Given the description of an element on the screen output the (x, y) to click on. 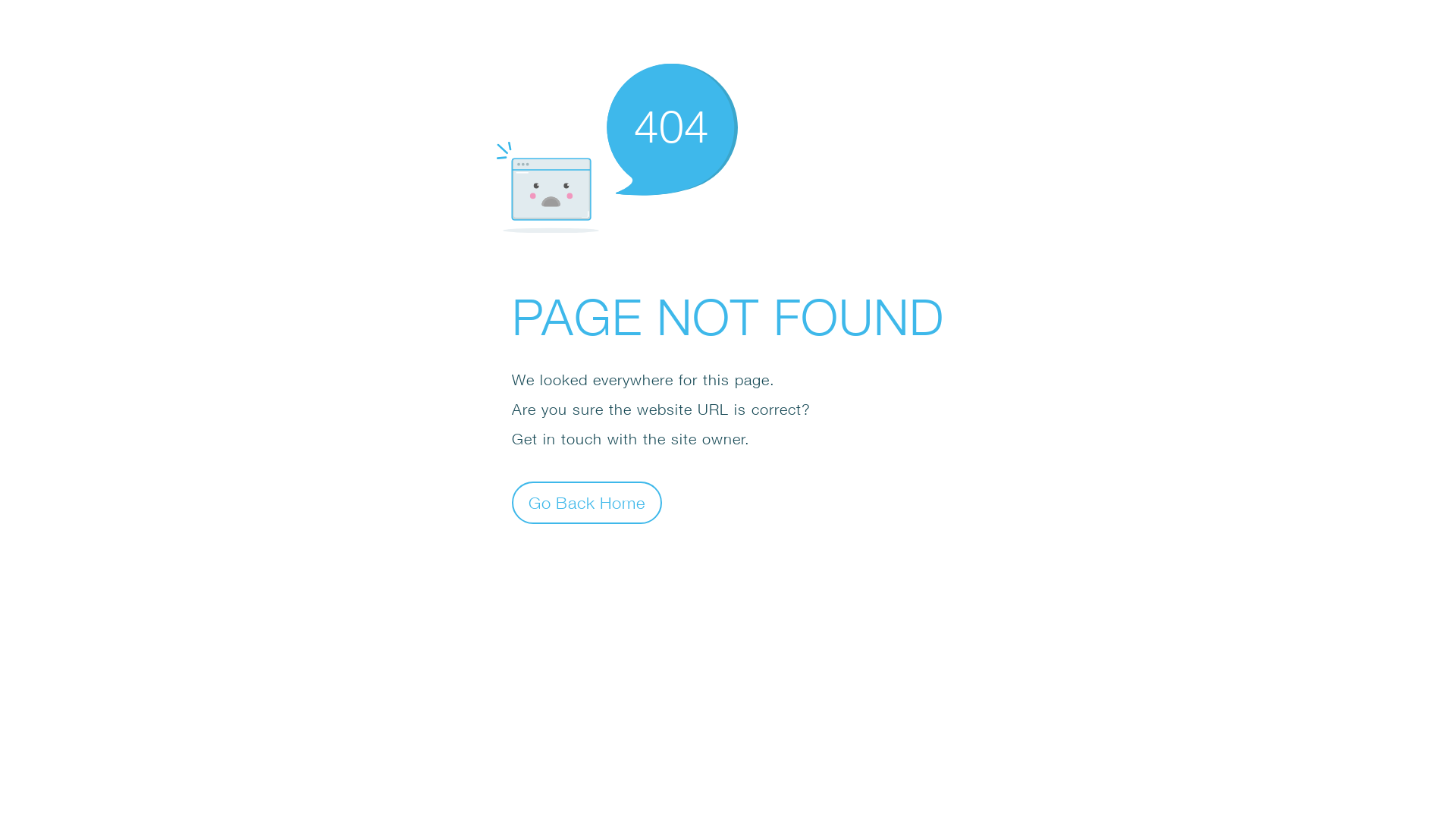
Go Back Home Element type: text (586, 502)
